Given the description of an element on the screen output the (x, y) to click on. 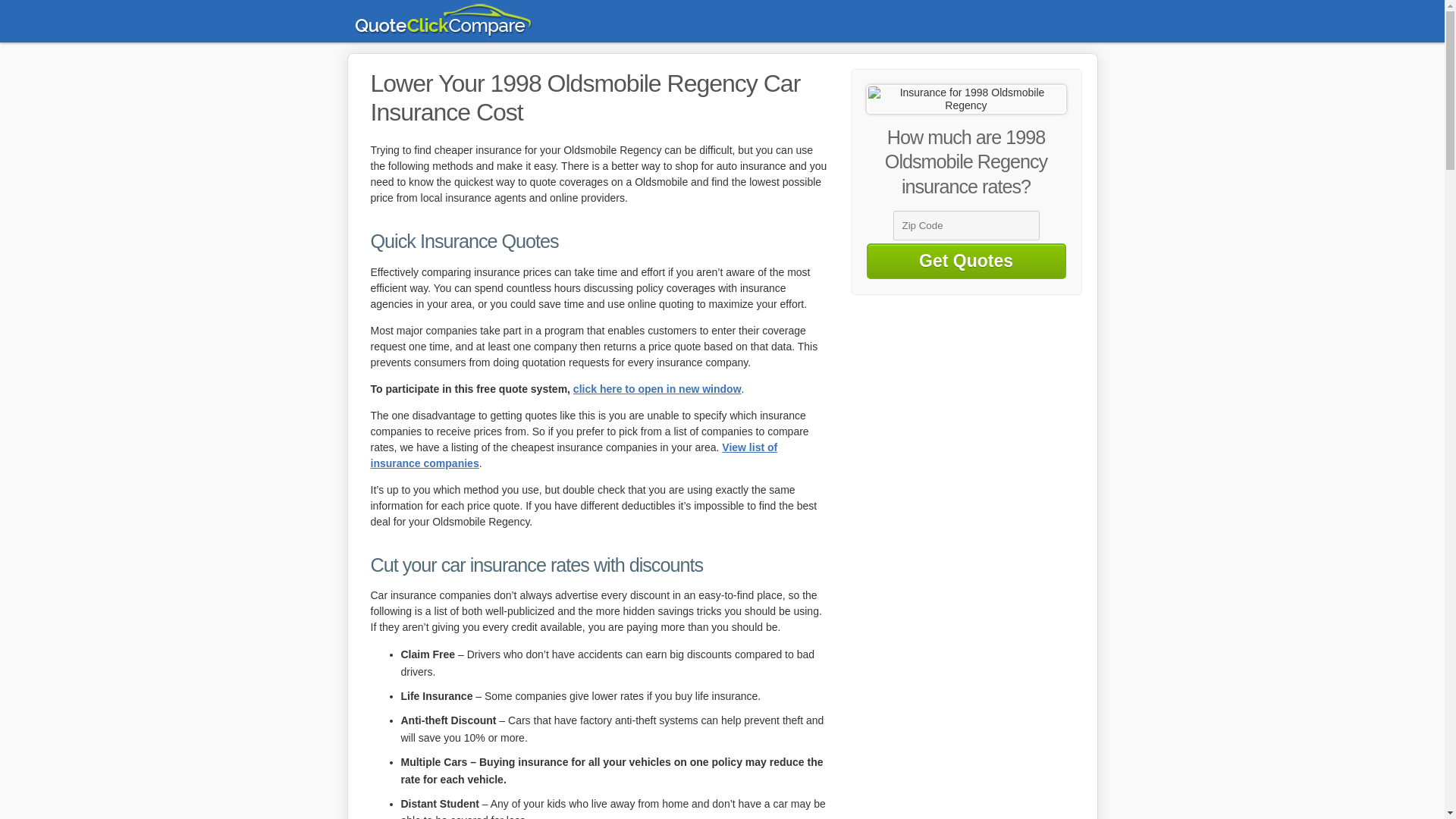
Zip Code must be filled out! (965, 225)
Tap to get your quotes! (965, 259)
click here to open in new window (657, 388)
Get Quotes (965, 261)
View list of insurance companies (573, 455)
